Given the description of an element on the screen output the (x, y) to click on. 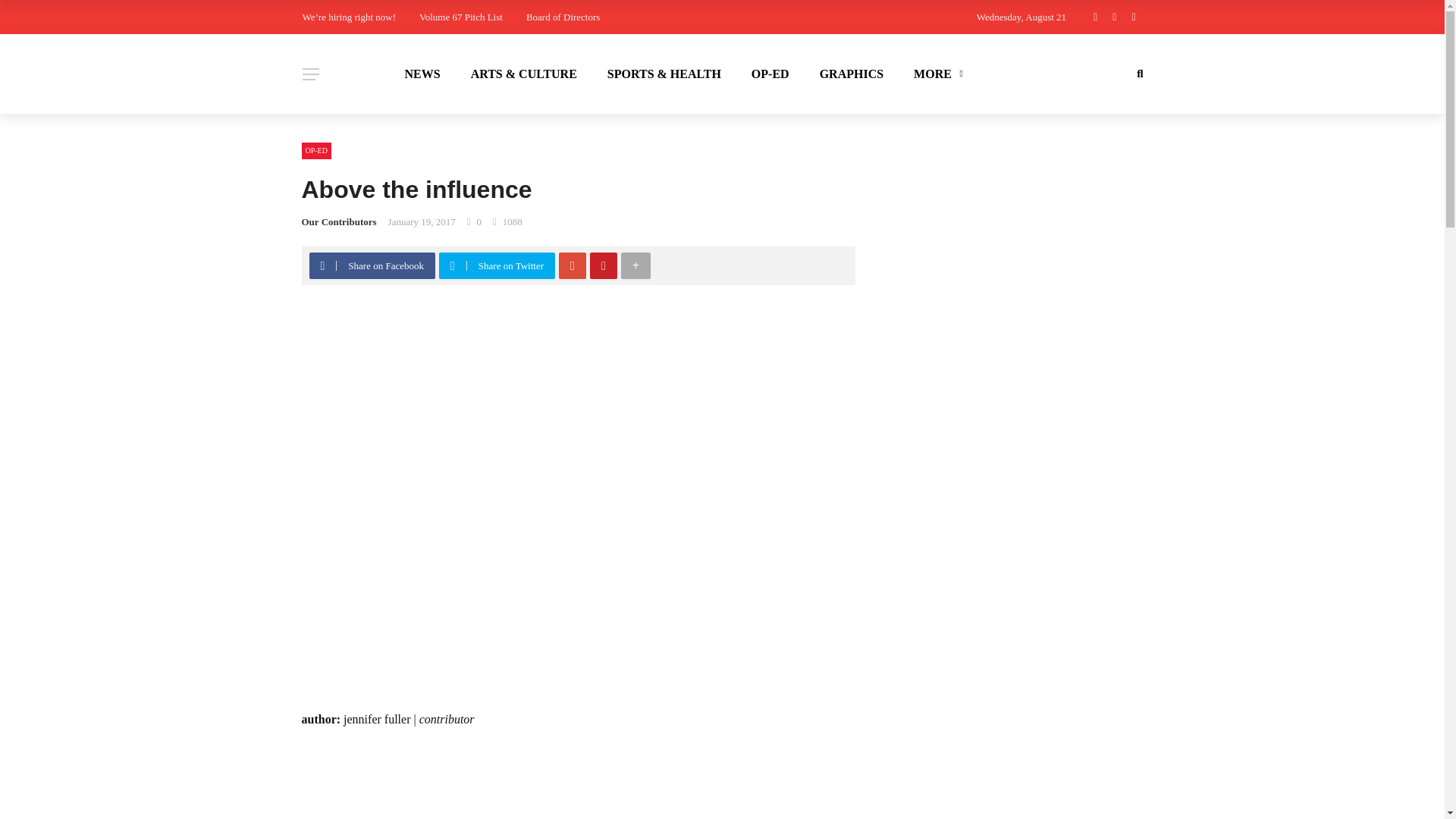
GRAPHICS (851, 73)
Board of Directors (562, 16)
MORE (936, 73)
Volume 67 Pitch List (460, 16)
